Given the description of an element on the screen output the (x, y) to click on. 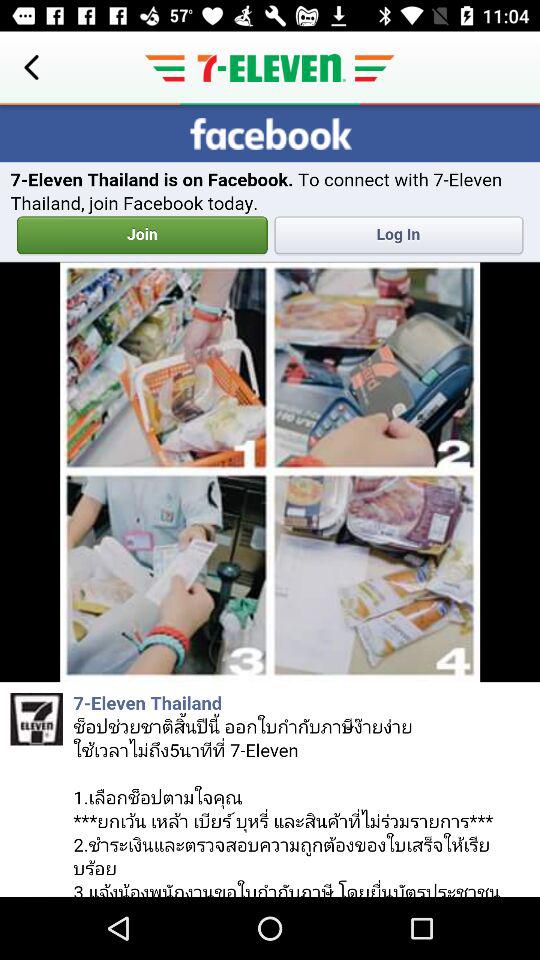
display screen (270, 501)
